Given the description of an element on the screen output the (x, y) to click on. 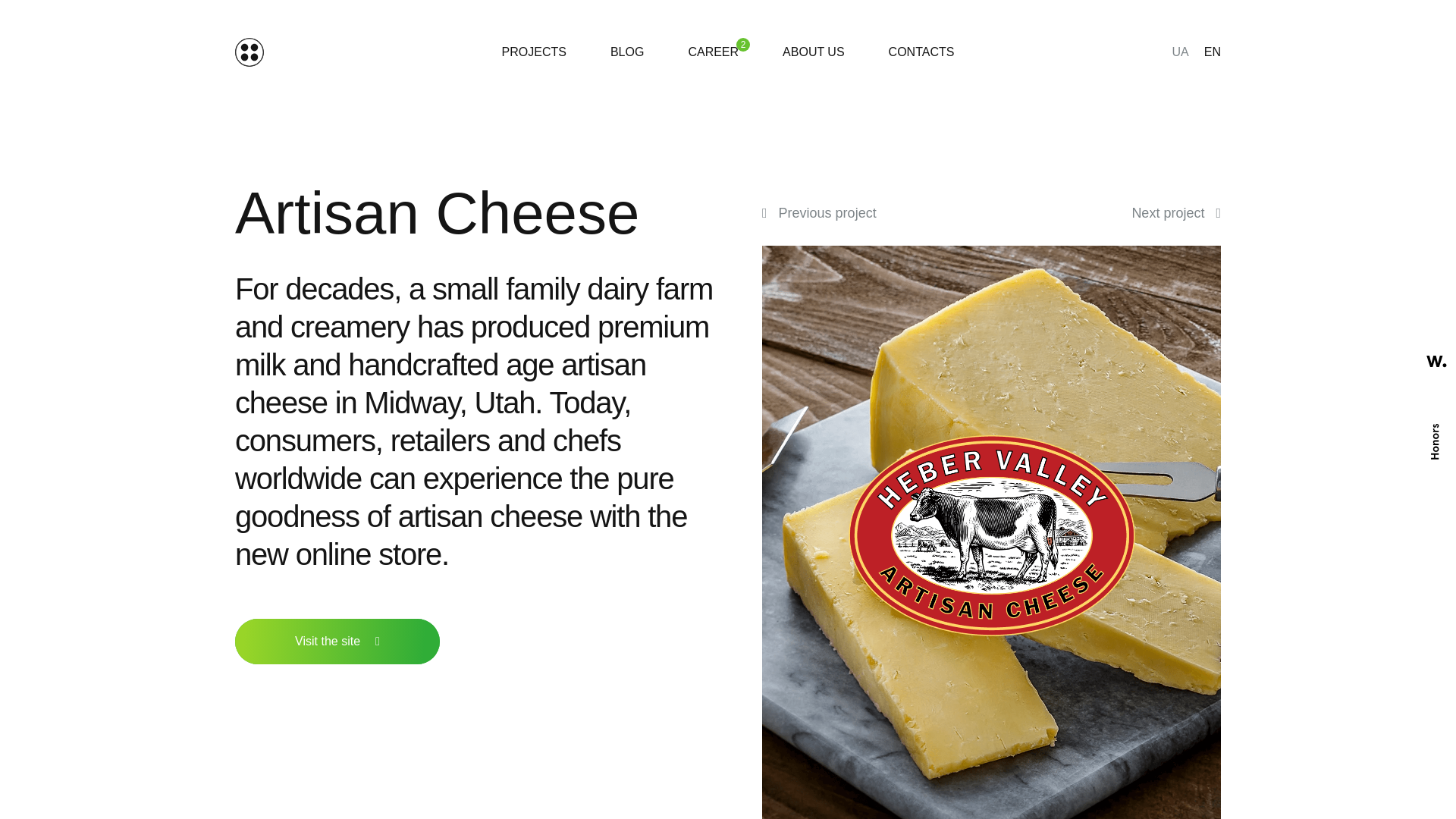
UA (1180, 51)
CAREER (713, 51)
EN (1212, 51)
Next project (1176, 212)
Previous project (818, 212)
BLOG (627, 51)
ABOUT US (813, 51)
CONTACTS (921, 51)
Visit the site (336, 641)
PROJECTS (533, 51)
